Given the description of an element on the screen output the (x, y) to click on. 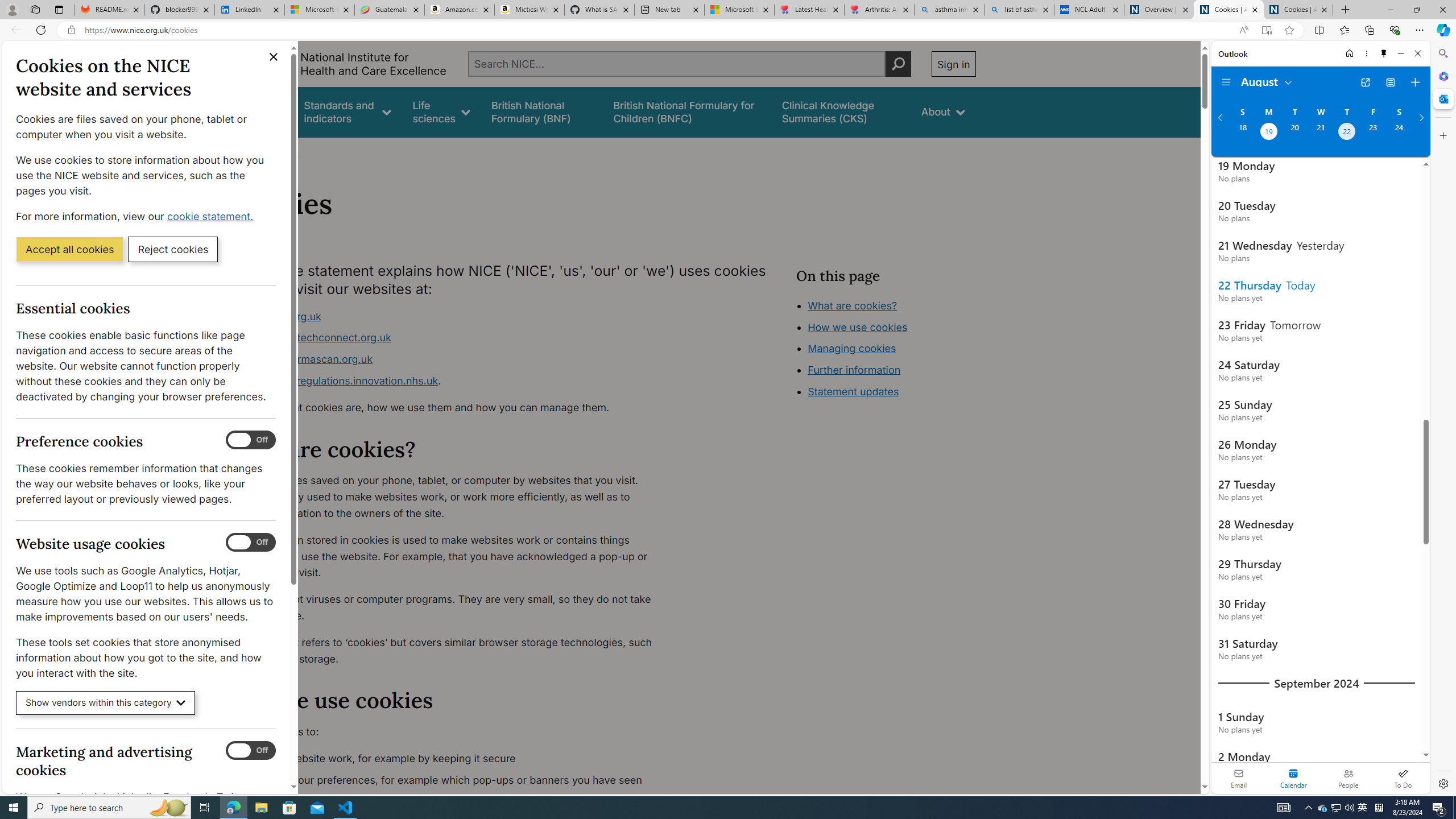
Preference cookies (250, 439)
make our website work, for example by keeping it secure (452, 759)
What are cookies? (852, 305)
August (1267, 80)
People (1347, 777)
cookie statement. (Opens in a new window) (211, 215)
Friday, August 23, 2024.  (1372, 132)
Marketing and advertising cookies (250, 750)
